Given the description of an element on the screen output the (x, y) to click on. 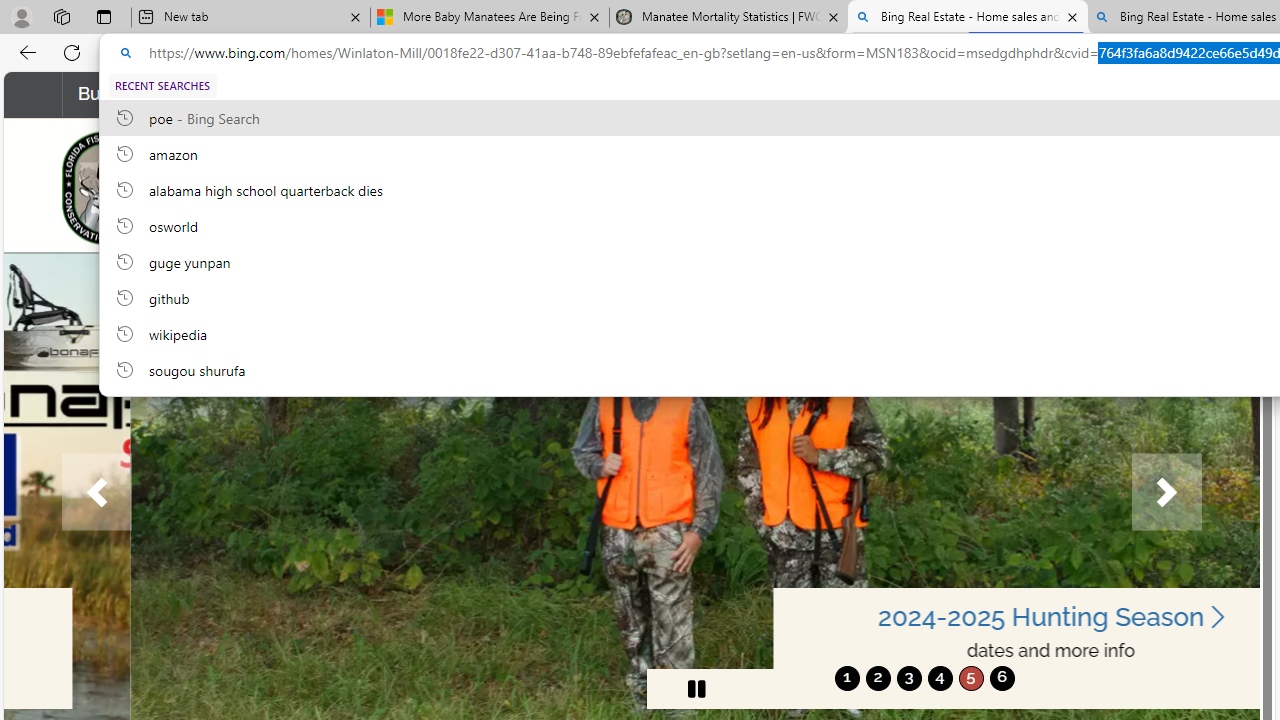
Resolve a Wildlife Conflict (365, 94)
FWC Logo Florida Fish and Wildlife Conservation Commission (246, 185)
move to slide 4 (939, 678)
Bing Real Estate - Home sales and rental listings (967, 17)
6 (1002, 678)
execute site search (1173, 187)
slider pause button (696, 688)
FWC Logo (108, 187)
move to slide 1 (847, 678)
move to slide 5 (970, 678)
Resolve a Wildlife Conflict (365, 94)
Next (1166, 491)
